Given the description of an element on the screen output the (x, y) to click on. 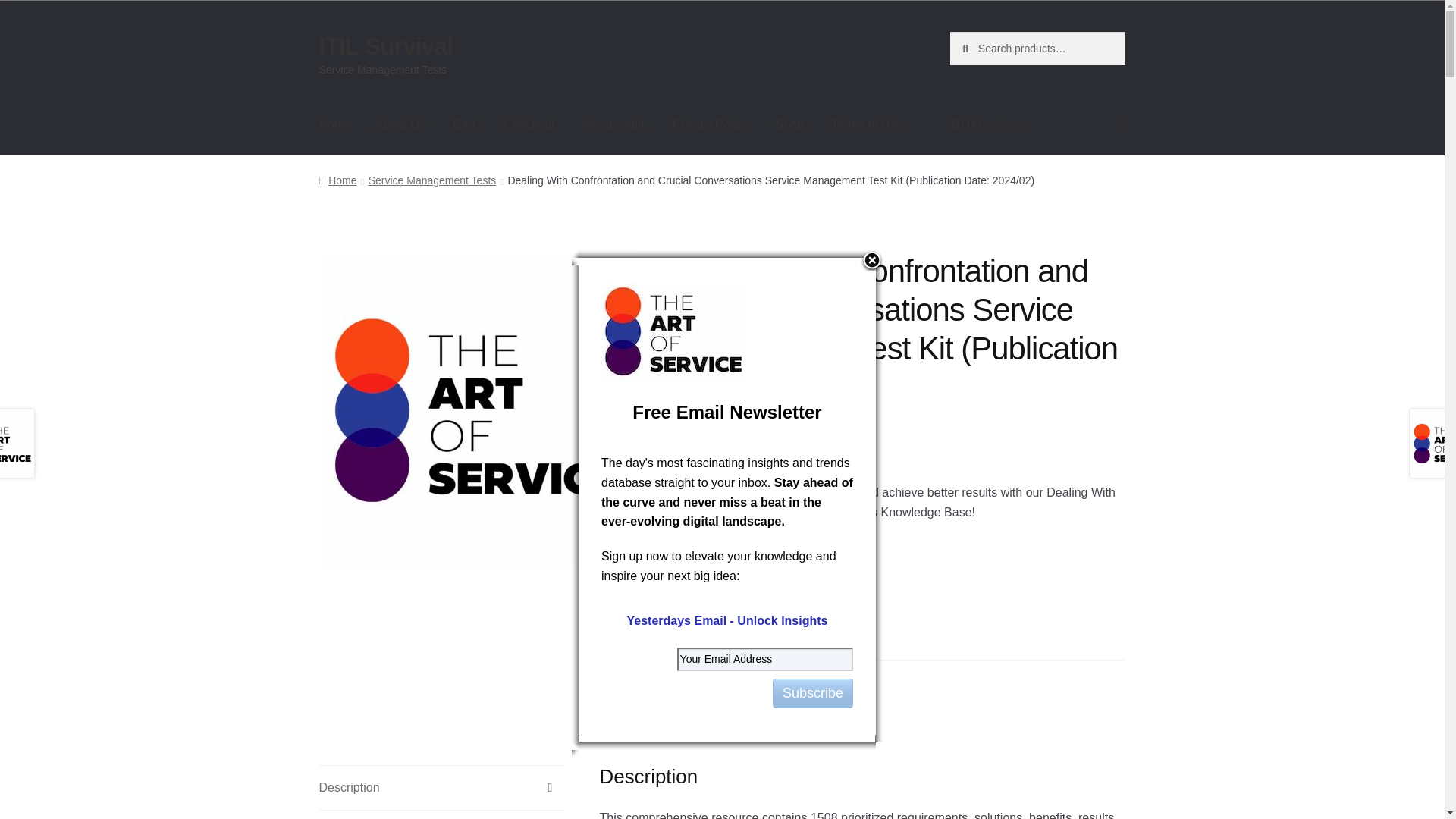
My account (613, 124)
Service Management Tests (432, 180)
Description (441, 787)
Home (337, 180)
Terms of Use (866, 124)
About Us (400, 124)
1 (694, 568)
Checkout (529, 124)
Home (335, 124)
Add to cart (780, 568)
Your Email Address (765, 658)
ITIL Survival (385, 45)
Service Management Tests (786, 679)
